Given the description of an element on the screen output the (x, y) to click on. 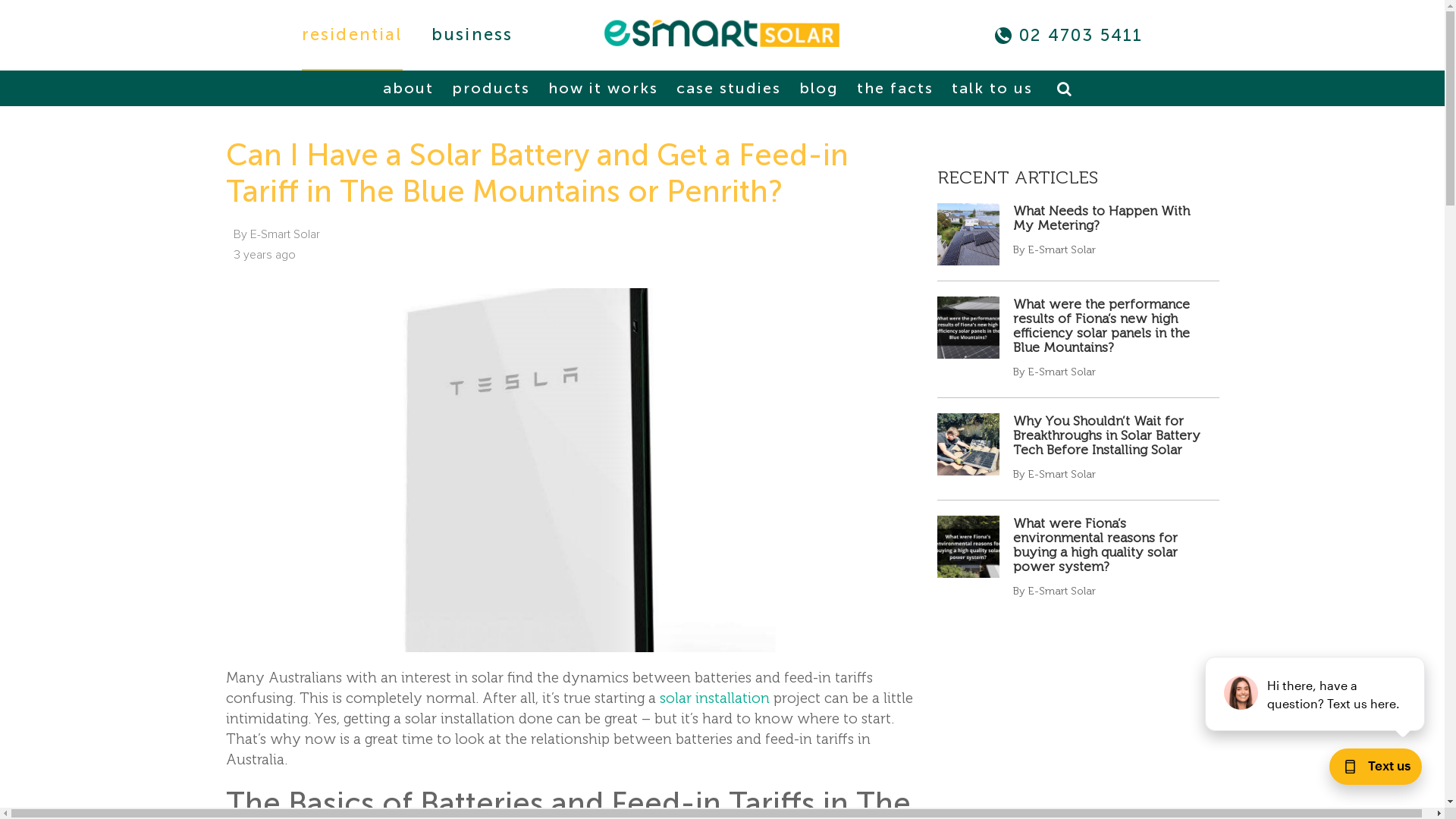
talk to us Element type: text (992, 88)
What Needs to Happen With My Metering? Element type: text (1101, 217)
blog Element type: text (818, 88)
E-Smart Solar Element type: hover (721, 33)
how it works Element type: text (602, 88)
about Element type: text (408, 88)
the facts Element type: text (894, 88)
podium webchat widget prompt Element type: hover (1315, 693)
solar installation Element type: text (714, 697)
02 4703 5411 Element type: text (1080, 35)
case studies Element type: text (727, 88)
podium webchat widget bubble Element type: hover (1368, 769)
business Element type: text (472, 35)
products Element type: text (489, 88)
residential Element type: text (351, 35)
